Given the description of an element on the screen output the (x, y) to click on. 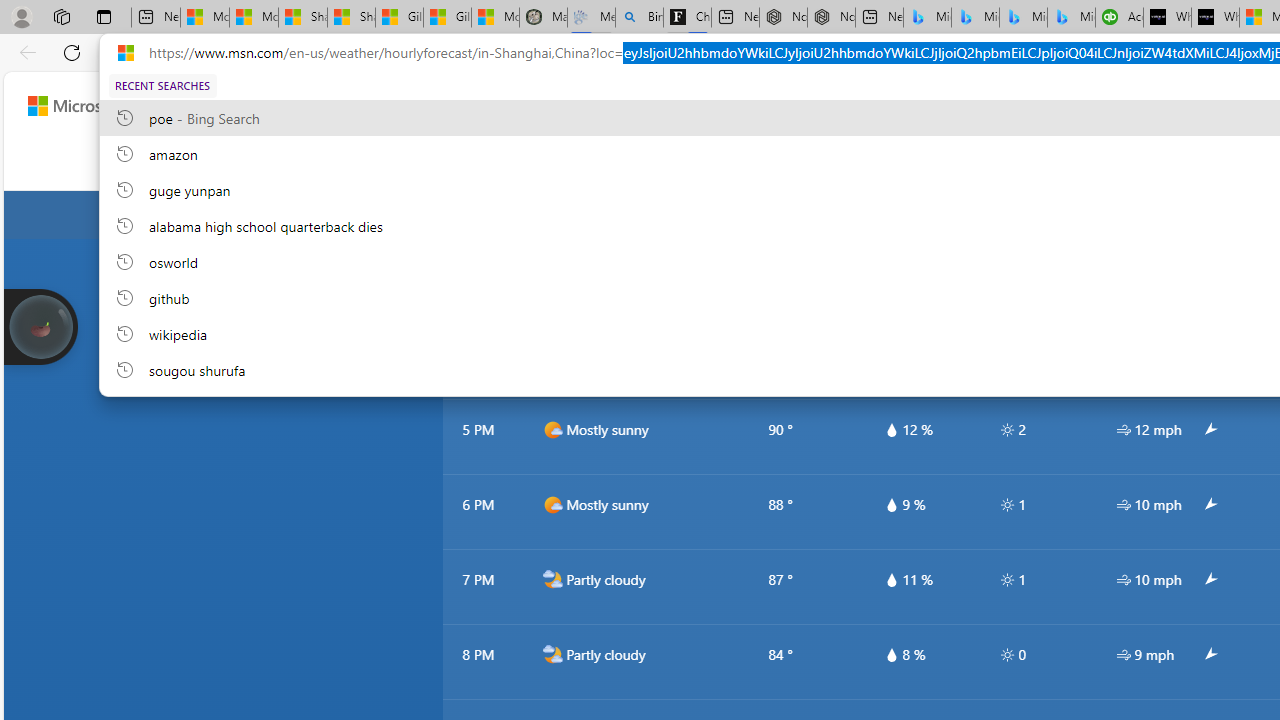
Join us in planting real trees to help our planet! (40, 325)
hourlyTable/drop (891, 654)
Pollen (1126, 162)
Join us in planting real trees to help our planet! (40, 327)
Monthly (751, 162)
Gilma and Hector both pose tropical trouble for Hawaii (447, 17)
n2000 (552, 655)
hourlyTable/wind (1123, 654)
n0000 (1096, 215)
Class: button-glyph (290, 162)
hourlyTable/uv (1007, 654)
common/arrow (1209, 655)
Pollen (1126, 162)
